Given the description of an element on the screen output the (x, y) to click on. 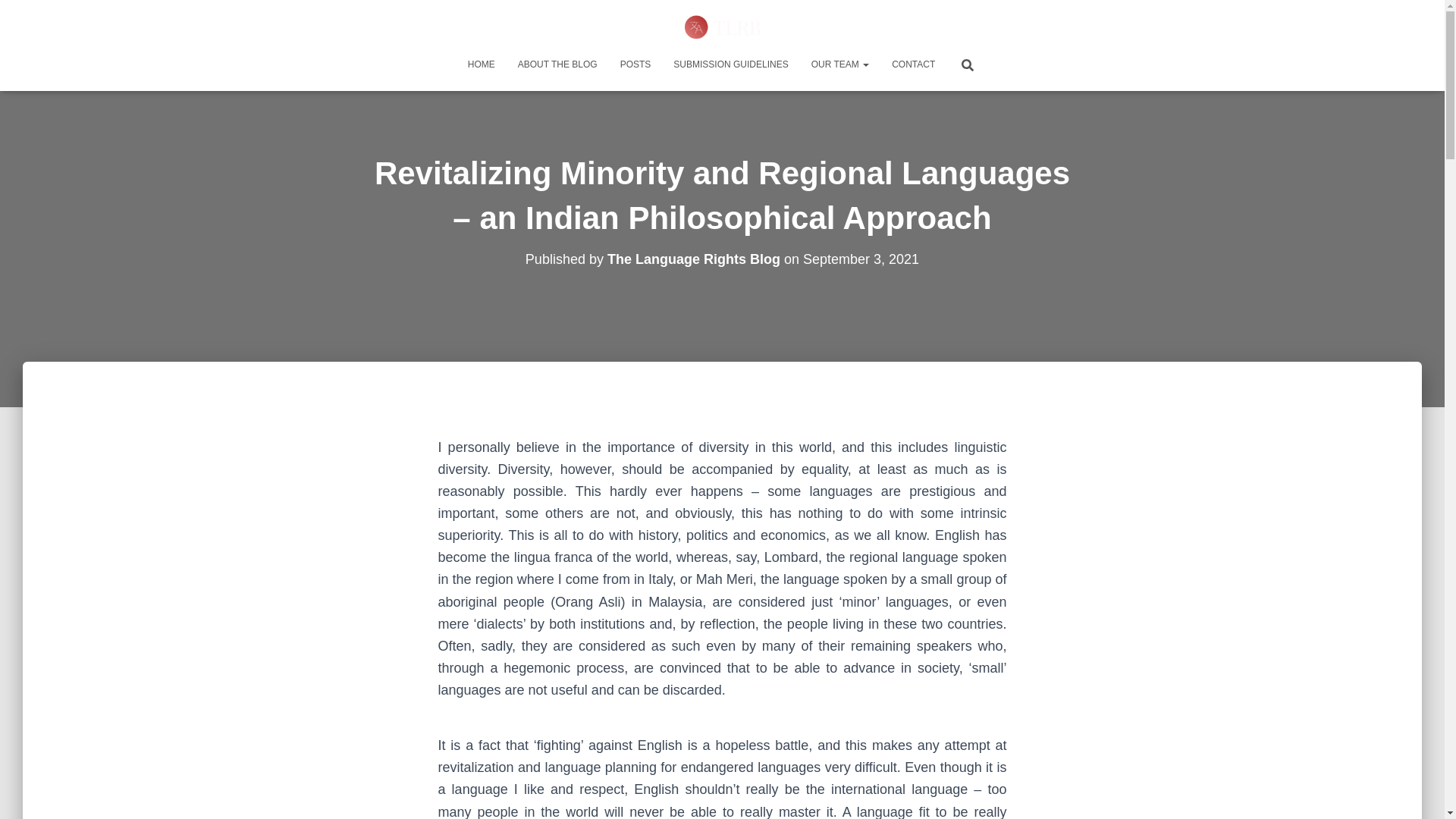
The Language Rights Blog (722, 26)
Posts (635, 64)
HOME (481, 64)
SUBMISSION GUIDELINES (730, 64)
Search (16, 16)
OUR TEAM (839, 64)
Home (481, 64)
POSTS (635, 64)
The Language Rights Blog (693, 258)
ABOUT THE BLOG (557, 64)
About the Blog (557, 64)
Our Team (839, 64)
Submission Guidelines (730, 64)
Contact (913, 64)
CONTACT (913, 64)
